Given the description of an element on the screen output the (x, y) to click on. 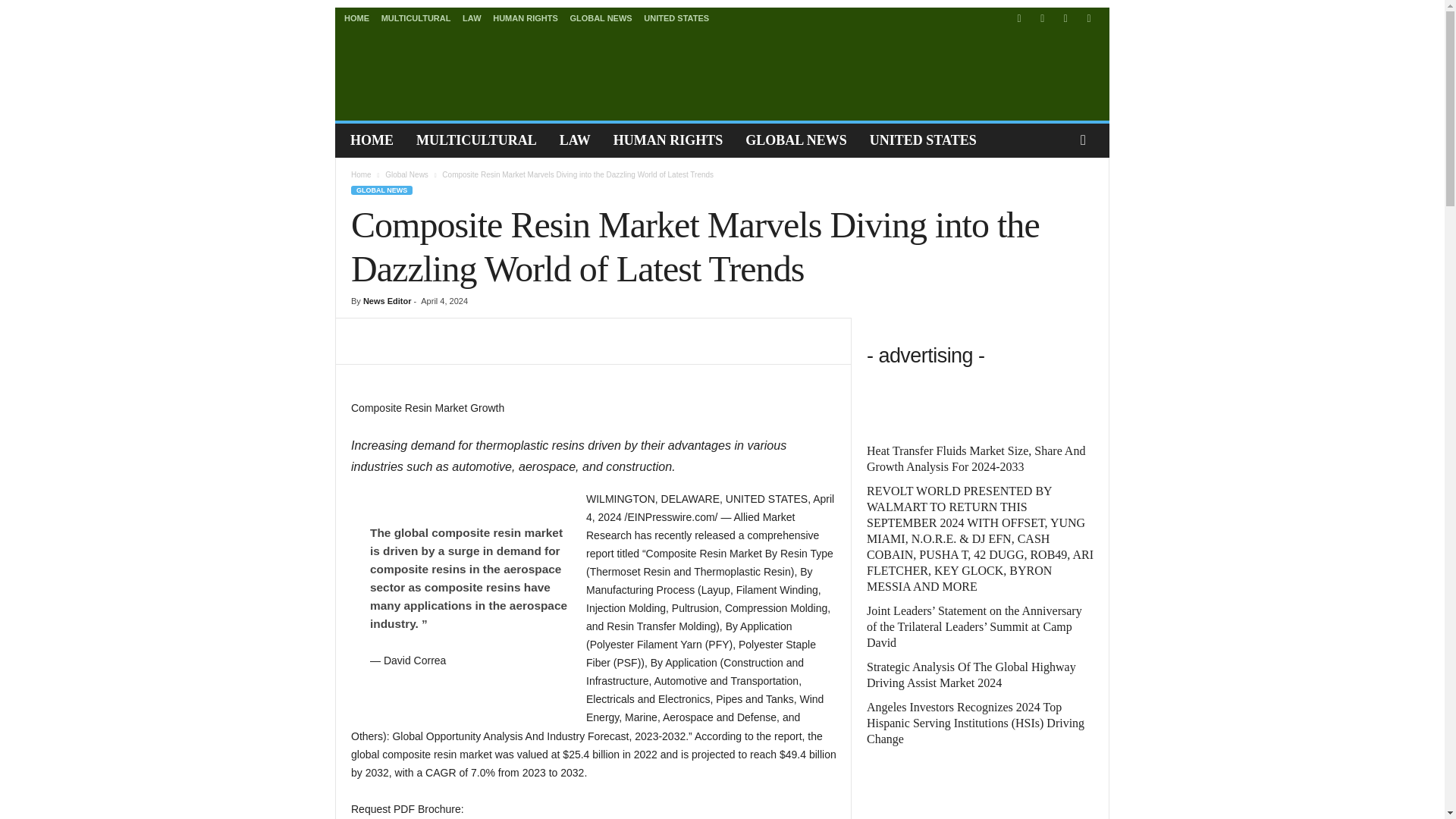
HUMAN RIGHTS (525, 17)
UNITED STATES (923, 140)
HUMAN RIGHTS (668, 140)
GLOBAL NEWS (600, 17)
NEWS BAY 71 (442, 70)
News Bay 71 (442, 70)
Global News (406, 174)
Home (360, 174)
News Editor (387, 300)
GLOBAL NEWS (796, 140)
